Given the description of an element on the screen output the (x, y) to click on. 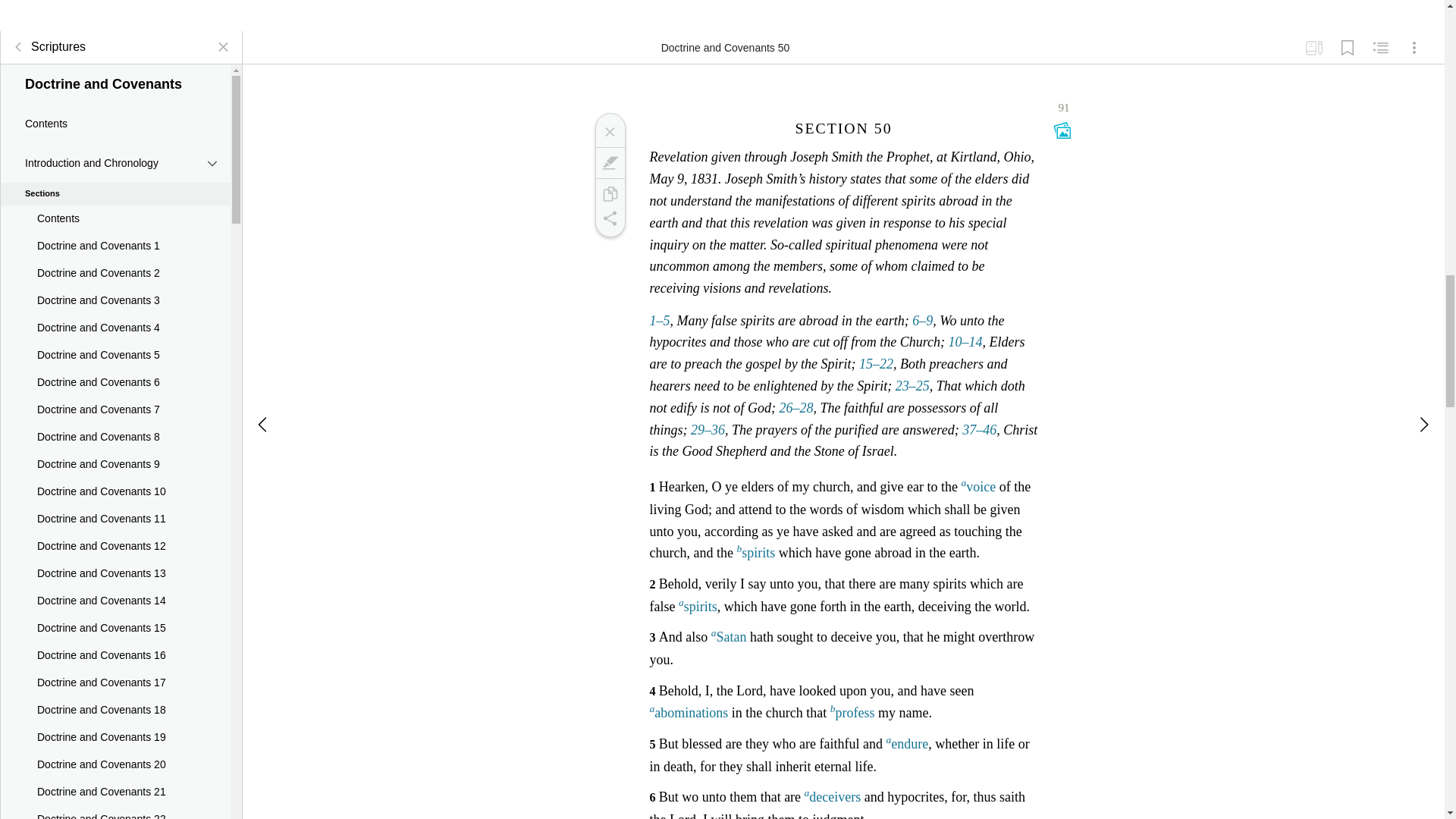
Doctrine and Covenants 17 (115, 682)
Close (608, 131)
Bookmarks (1347, 47)
Copy (608, 193)
Table of Contents (17, 47)
Doctrine and Covenants 22 (115, 812)
Doctrine and Covenants 20 (115, 764)
Options (1414, 47)
Doctrine and Covenants 10 (115, 492)
Mark (608, 162)
Doctrine and Covenants 16 (115, 655)
Scriptures (46, 46)
Doctrine and Covenants 8 (115, 437)
Study Sets (1313, 47)
Doctrine and Covenants 12 (115, 546)
